Given the description of an element on the screen output the (x, y) to click on. 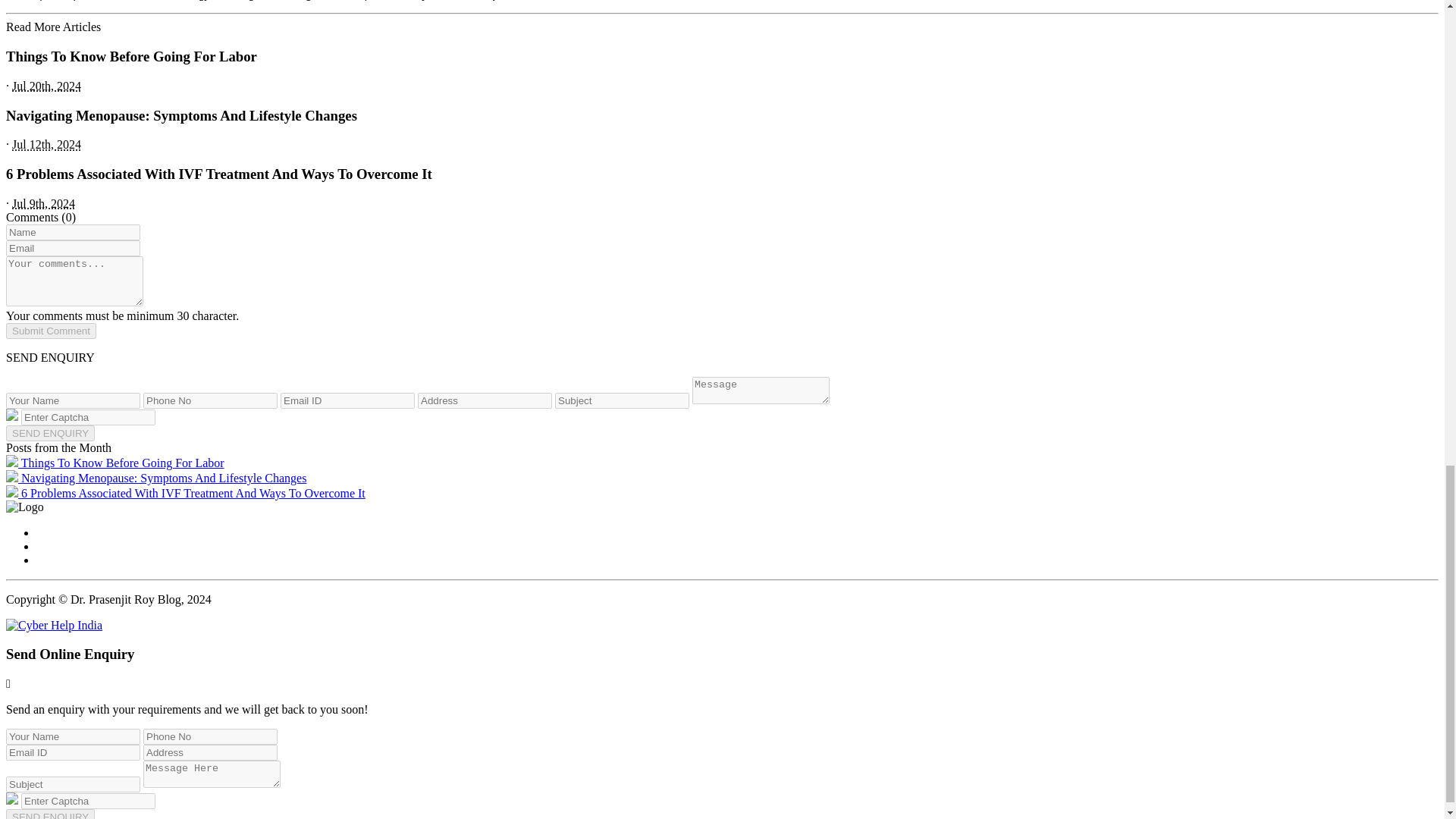
Jul 12th, 2024 (46, 144)
SEND ENQUIRY (49, 433)
SEND ENQUIRY (49, 433)
Navigating Menopause: Symptoms And Lifestyle Changes (155, 477)
Jul 9th, 2024 (43, 203)
Things To Know Before Going For Labor (114, 462)
Cyber Help India (53, 625)
Submit Comment (50, 330)
Jul 20th, 2024 (46, 85)
